Given the description of an element on the screen output the (x, y) to click on. 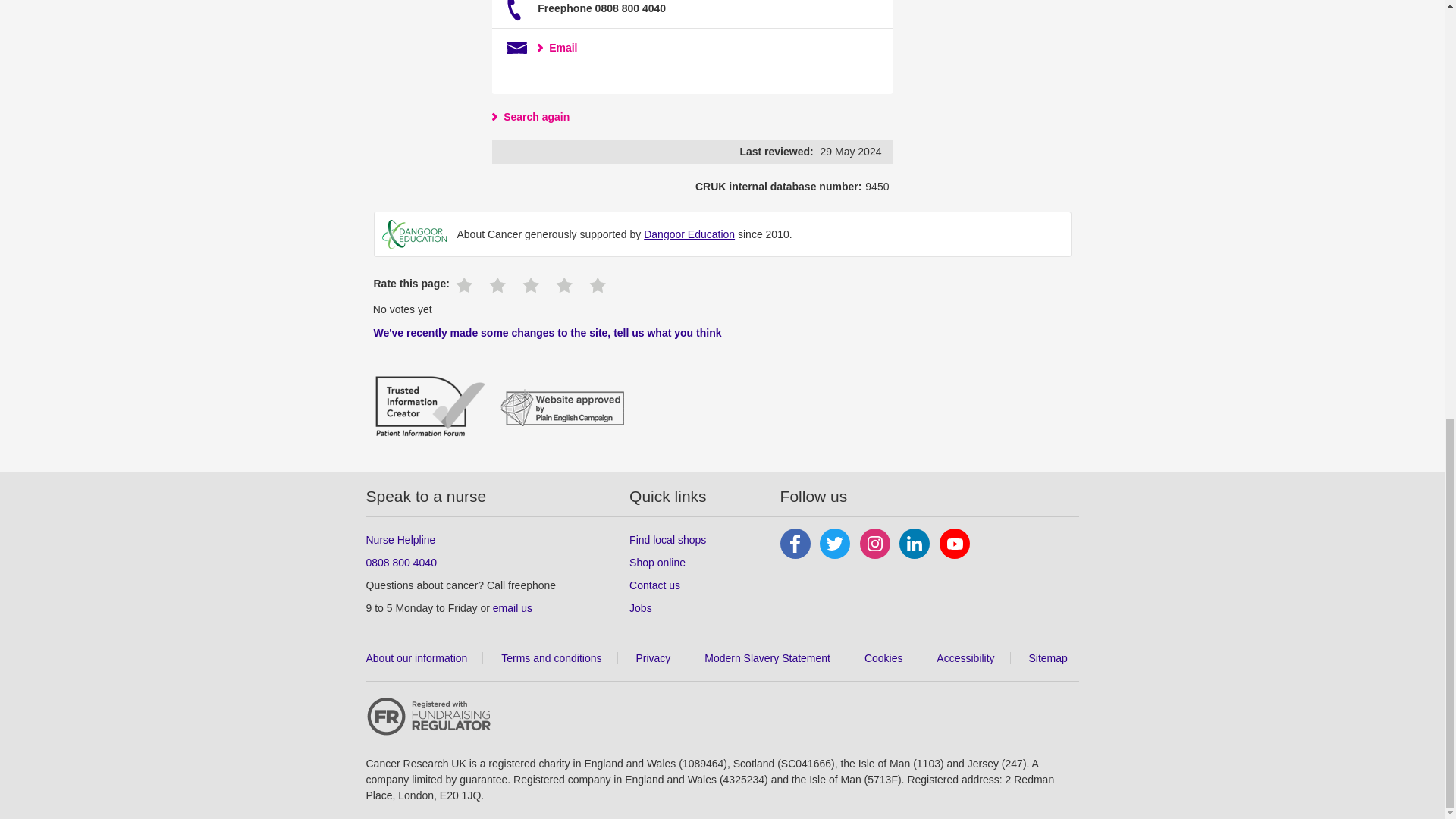
Dangoor Education (413, 234)
Visit Dangoor Education (689, 234)
Visit the Plain English Campaign (562, 409)
Visit the Patient Information Forum (429, 408)
